Given the description of an element on the screen output the (x, y) to click on. 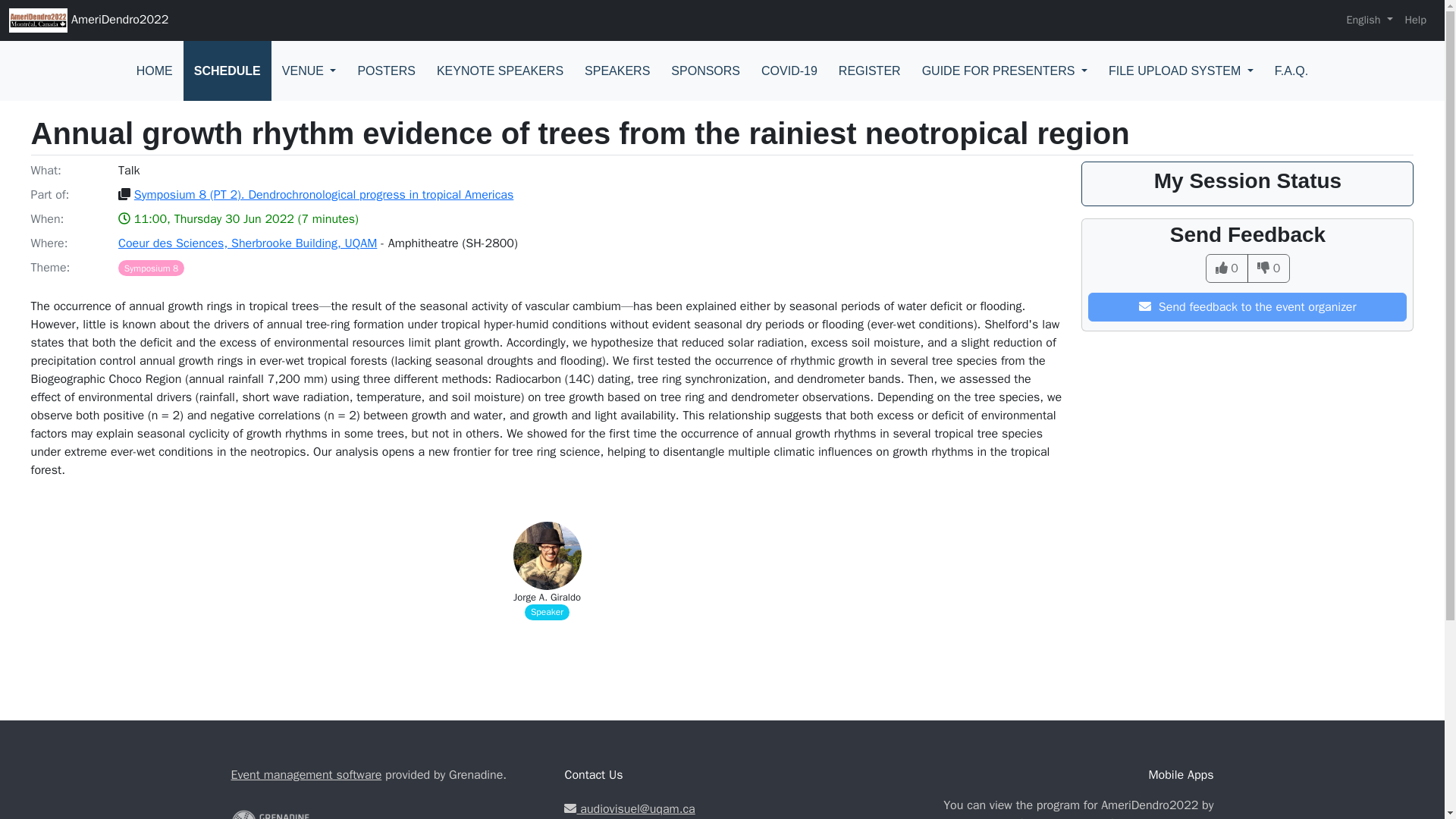
English (1368, 20)
FILE UPLOAD SYSTEM (1180, 70)
Jorge A. Giraldo (546, 597)
REGISTER (869, 70)
Theme (150, 267)
0 (1226, 267)
KEYNOTE SPEAKERS (499, 70)
SCHEDULE (226, 70)
POSTERS (385, 70)
AmeriDendro2022 (88, 20)
SPEAKERS (617, 70)
VENUE (308, 70)
F.A.Q. (1291, 70)
SPONSORS (706, 70)
0 (1268, 267)
